Given the description of an element on the screen output the (x, y) to click on. 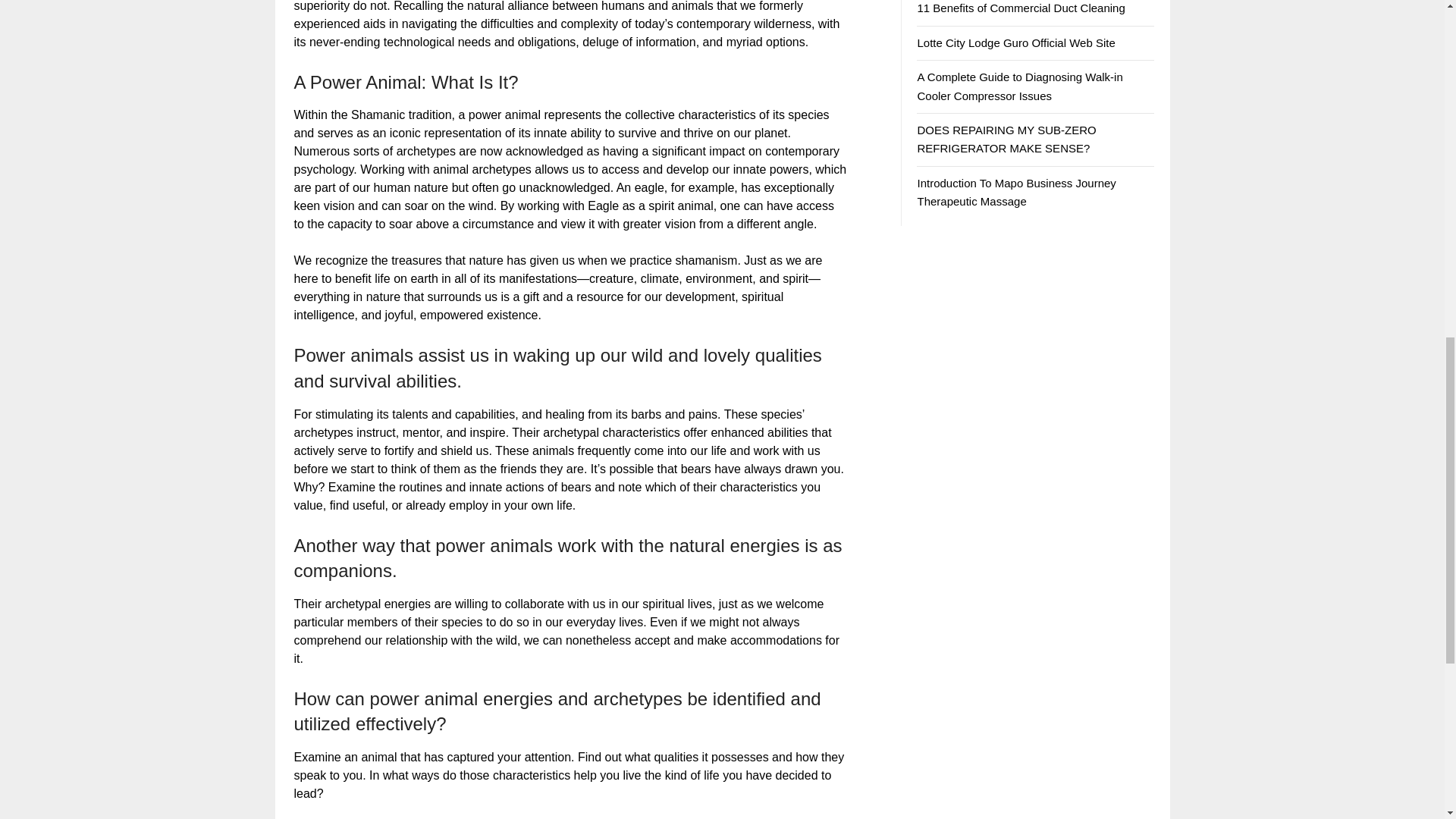
11 Benefits of Commercial Duct Cleaning (1020, 7)
Lotte City Lodge Guro Official Web Site (1016, 42)
DOES REPAIRING MY SUB-ZERO REFRIGERATOR MAKE SENSE? (1006, 138)
Introduction To Mapo Business Journey Therapeutic Massage (1016, 192)
